Given the description of an element on the screen output the (x, y) to click on. 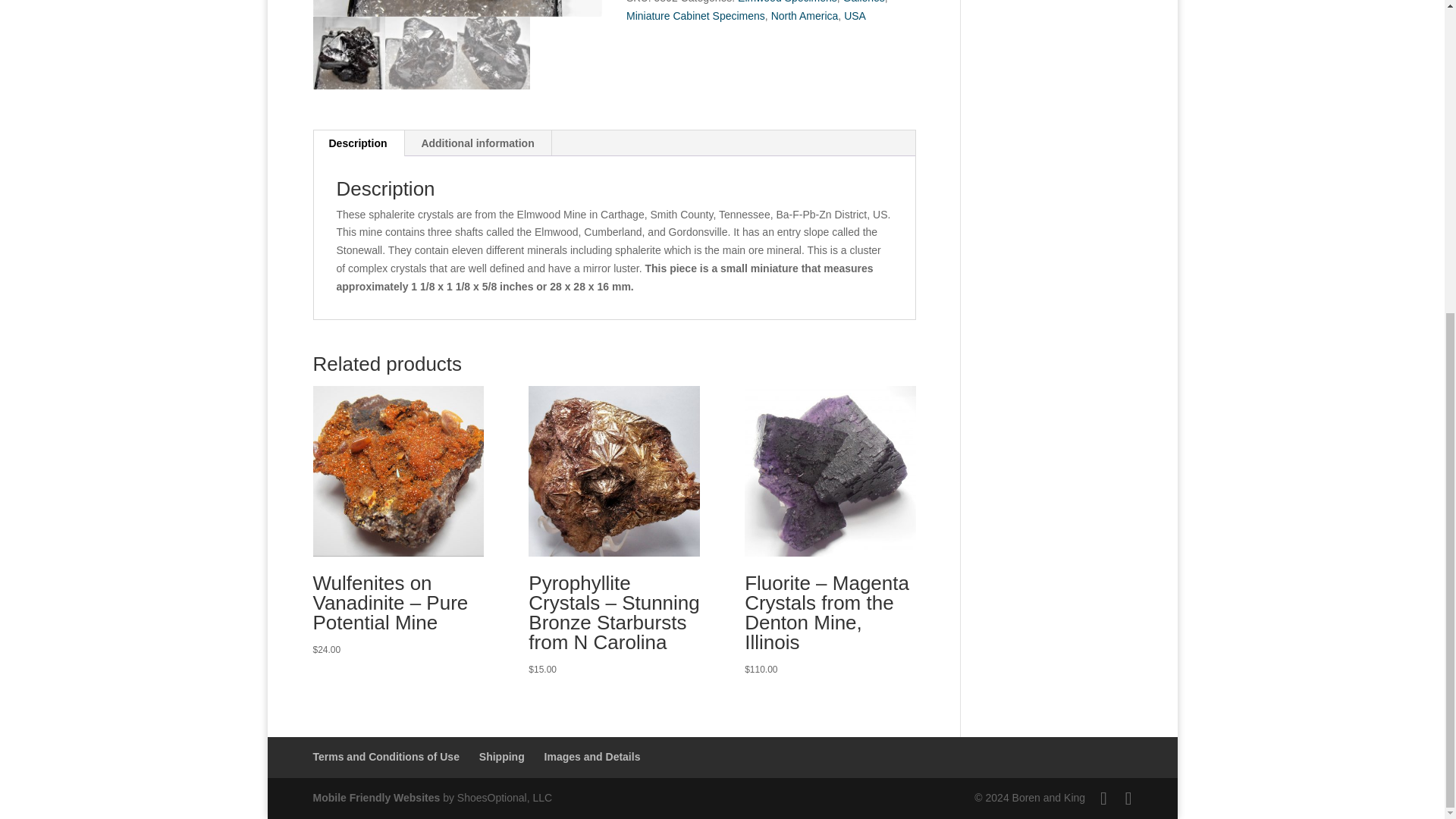
Sphalerite Crystal Cluster from the Elmwood Mine (457, 8)
